Given the description of an element on the screen output the (x, y) to click on. 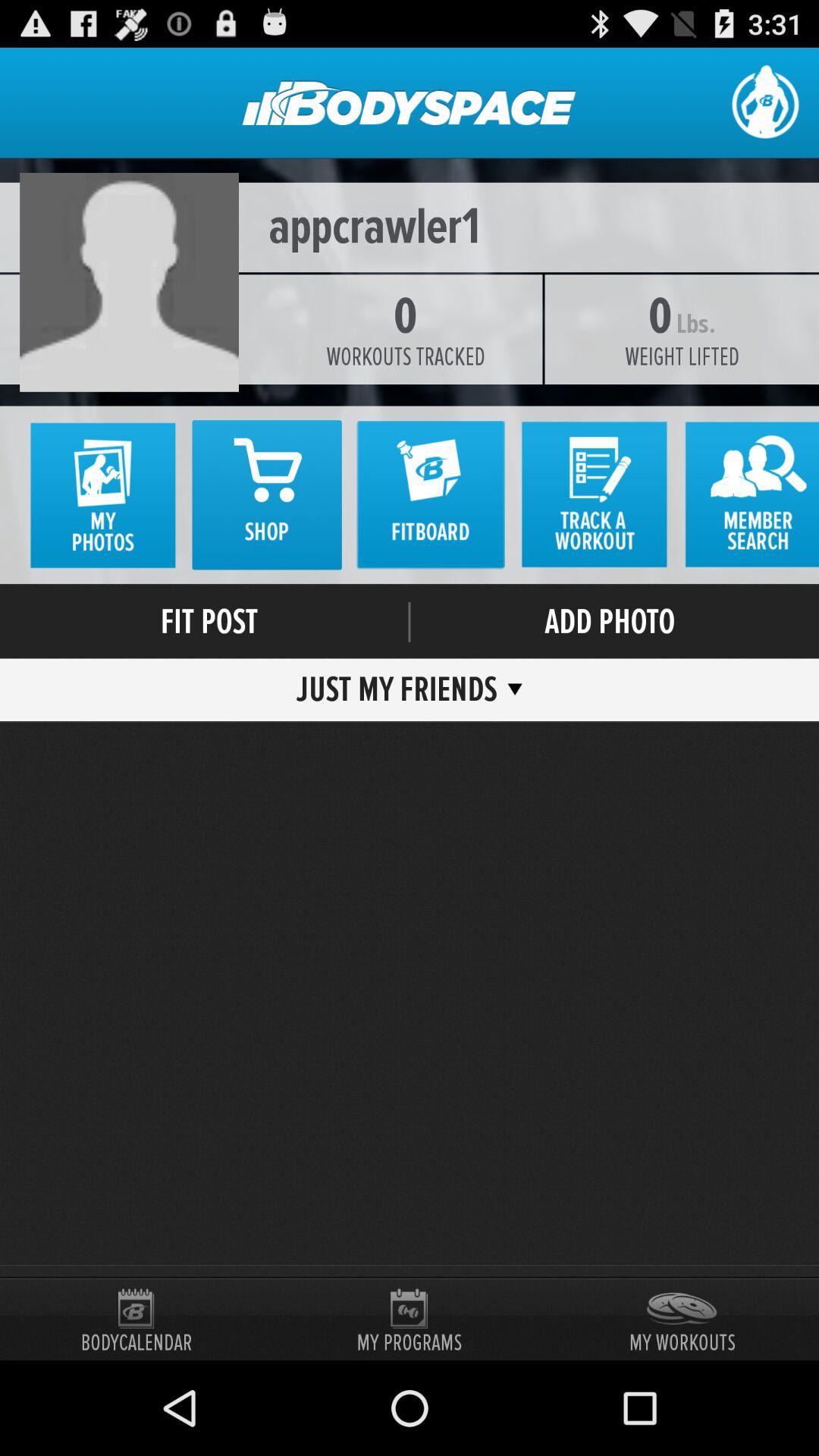
tap item below the fit post item (401, 689)
